Given the description of an element on the screen output the (x, y) to click on. 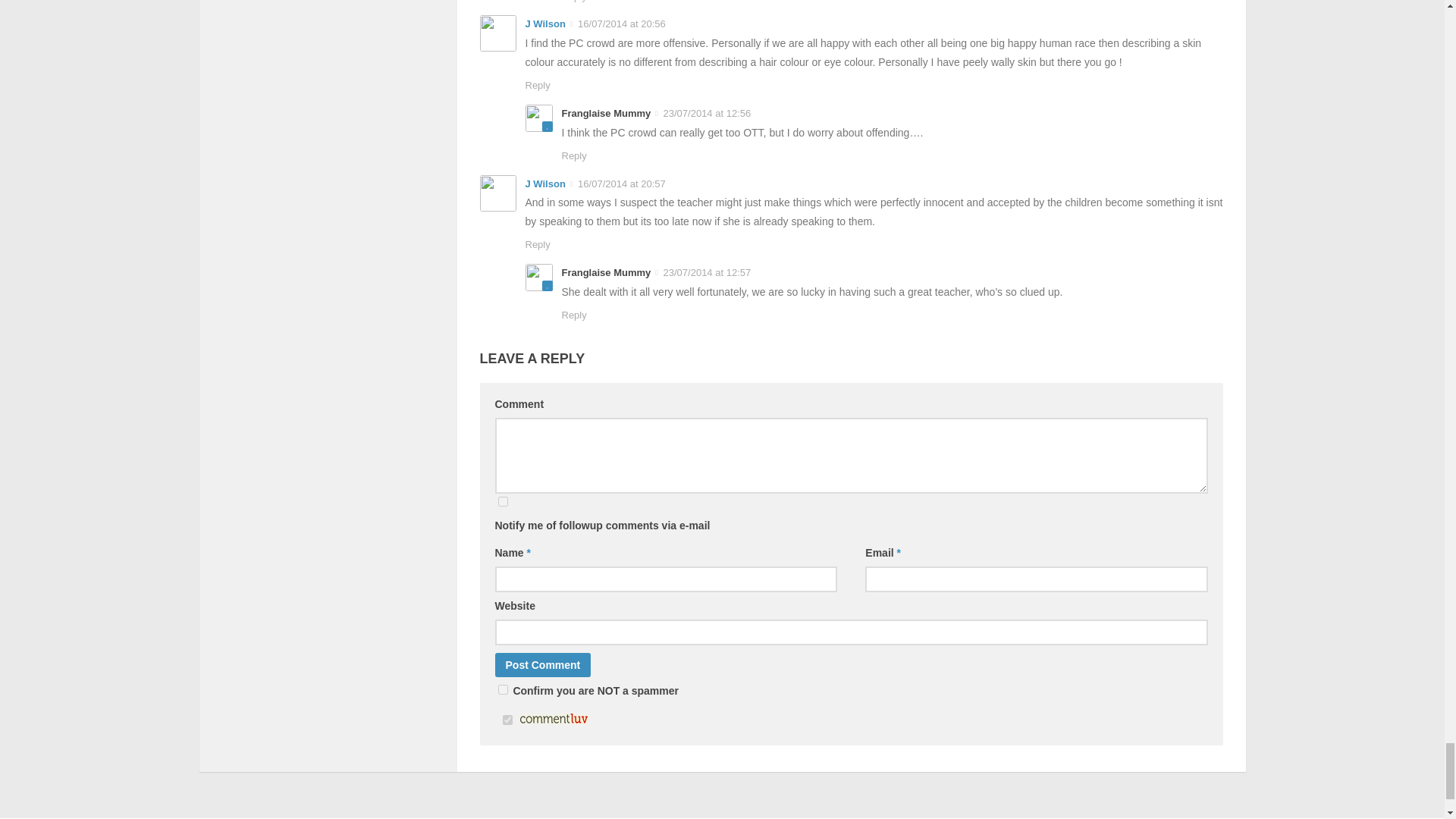
Post Comment (543, 664)
on (506, 719)
subscribe (501, 501)
on (501, 689)
